Given the description of an element on the screen output the (x, y) to click on. 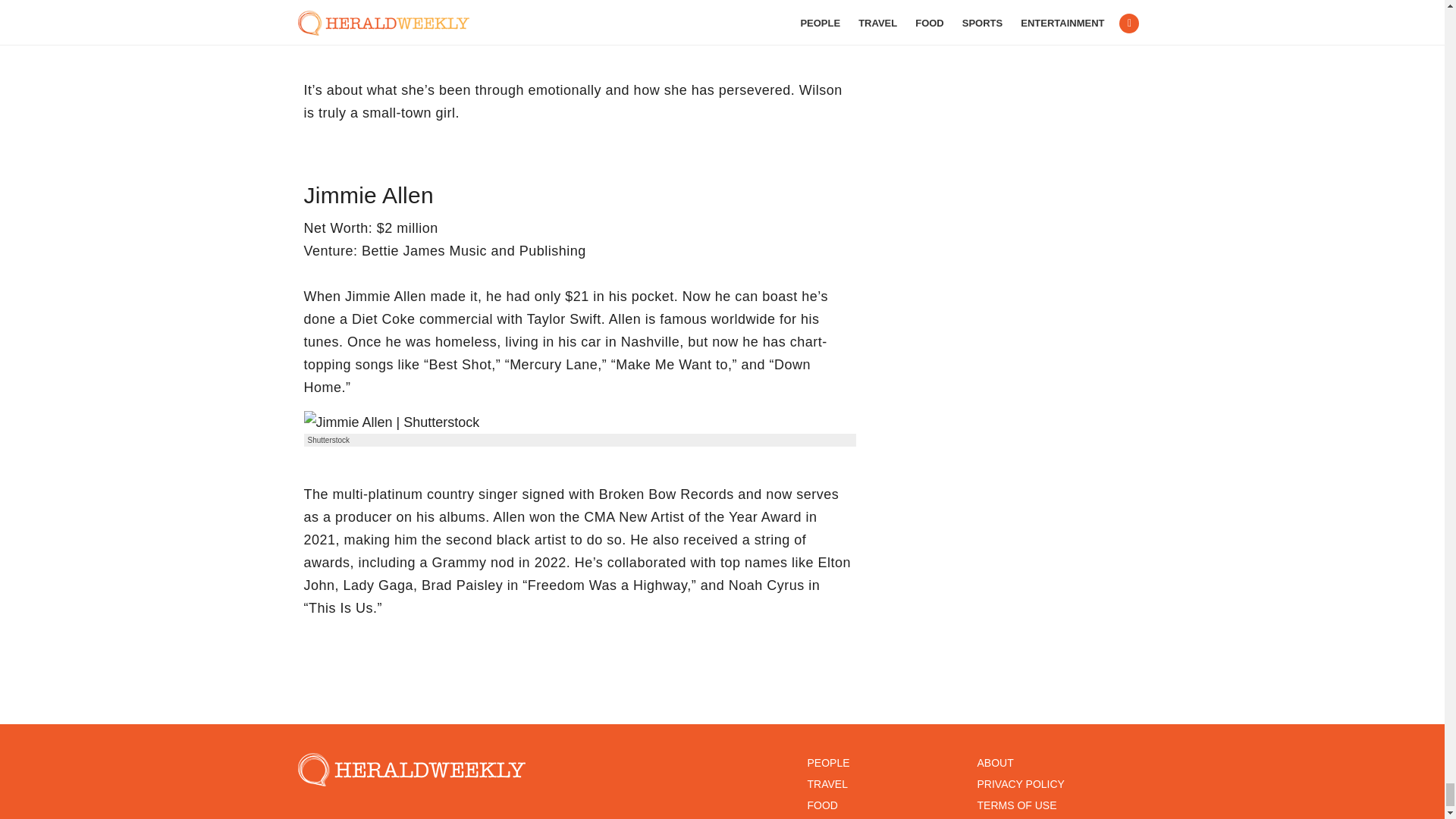
PRIVACY POLICY (1020, 784)
PEOPLE (827, 762)
ABOUT (994, 762)
TRAVEL (826, 784)
FOOD (821, 805)
TERMS OF USE (1016, 805)
